Given the description of an element on the screen output the (x, y) to click on. 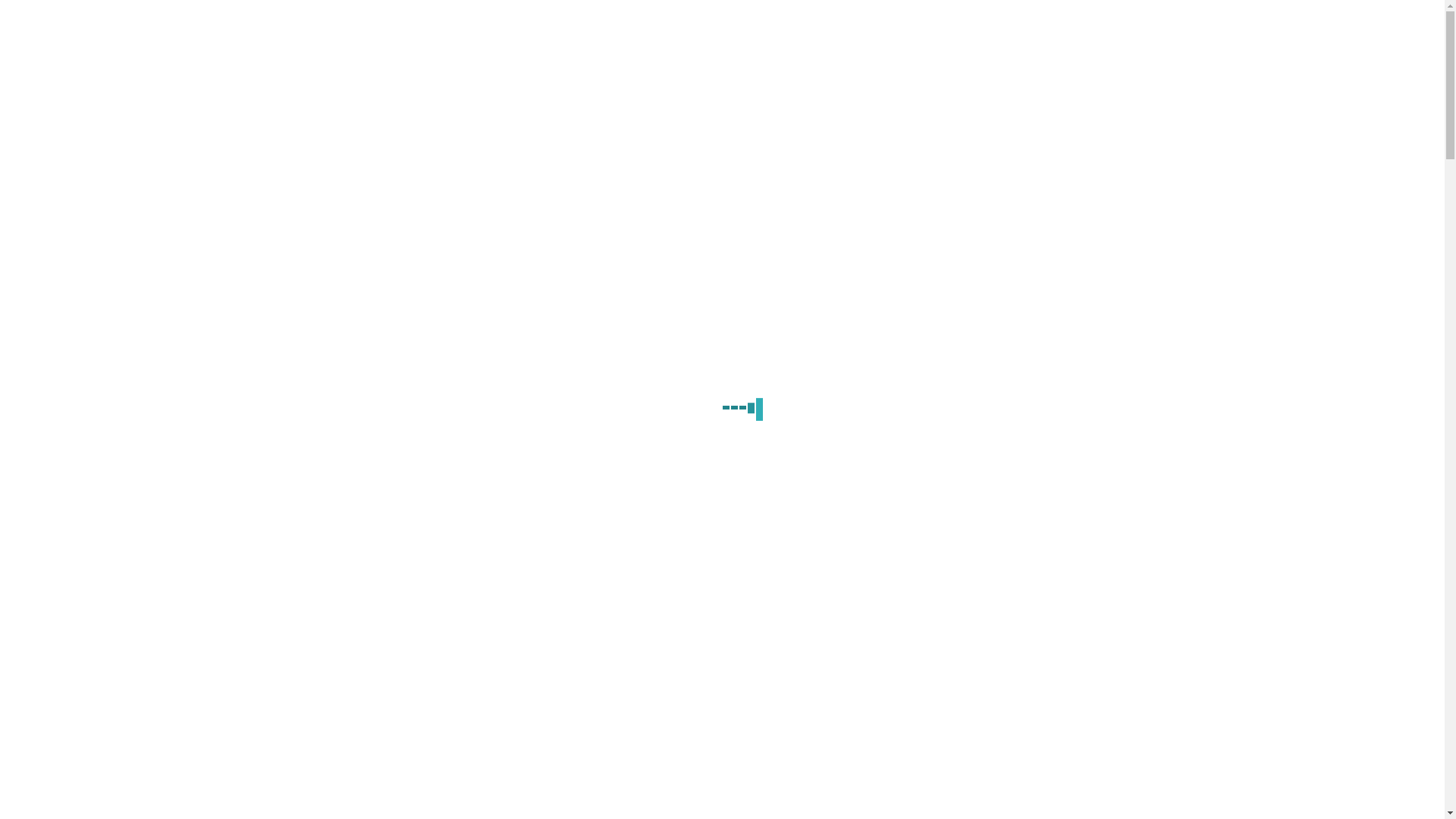
MilkFarm Element type: hover (721, 259)
